Given the description of an element on the screen output the (x, y) to click on. 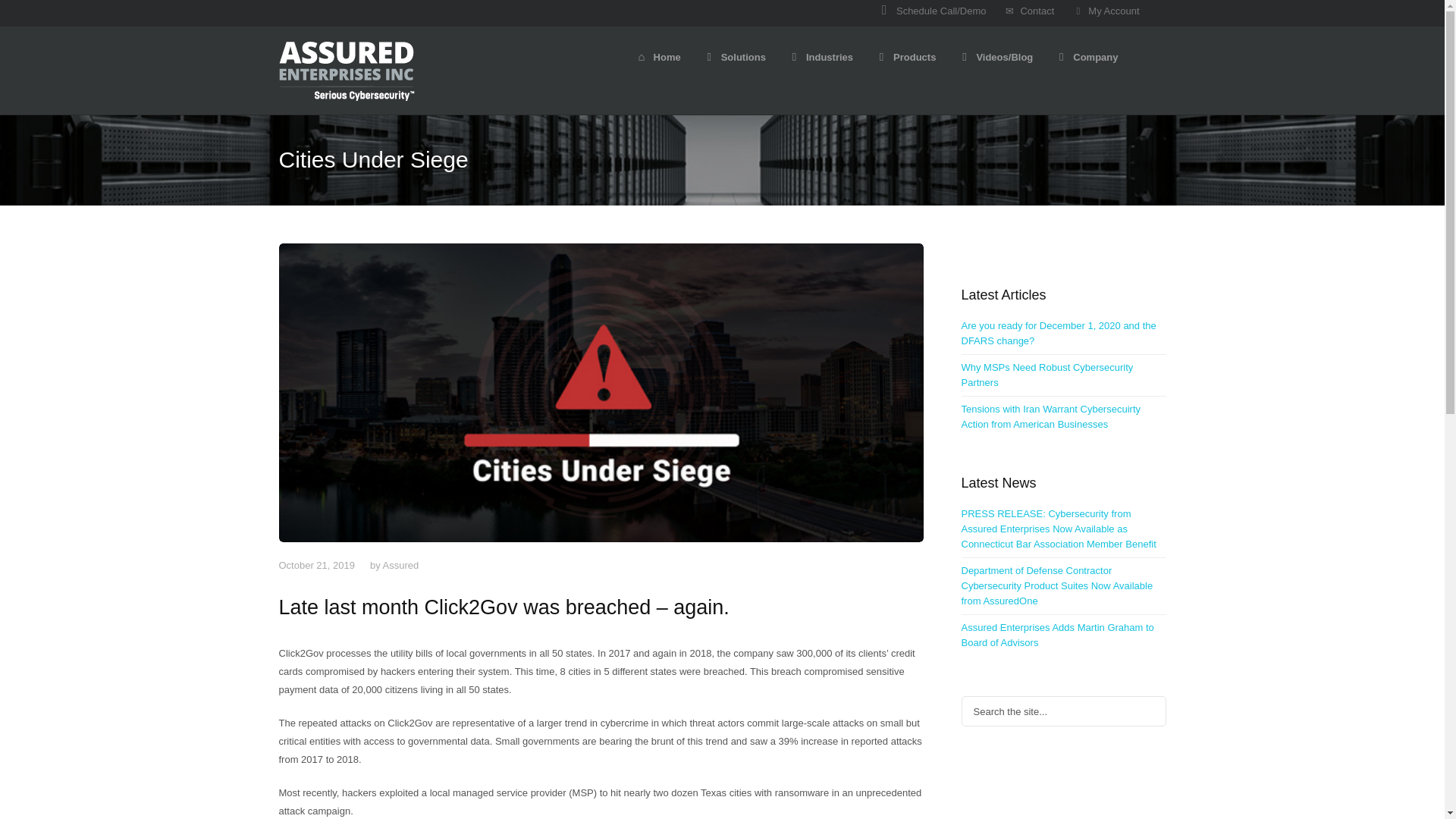
Company (1086, 55)
Contact (1029, 10)
Home (658, 55)
Products (905, 55)
Solutions (735, 55)
Industries (820, 55)
Posts by Assured (400, 564)
My Account (1105, 10)
